Given the description of an element on the screen output the (x, y) to click on. 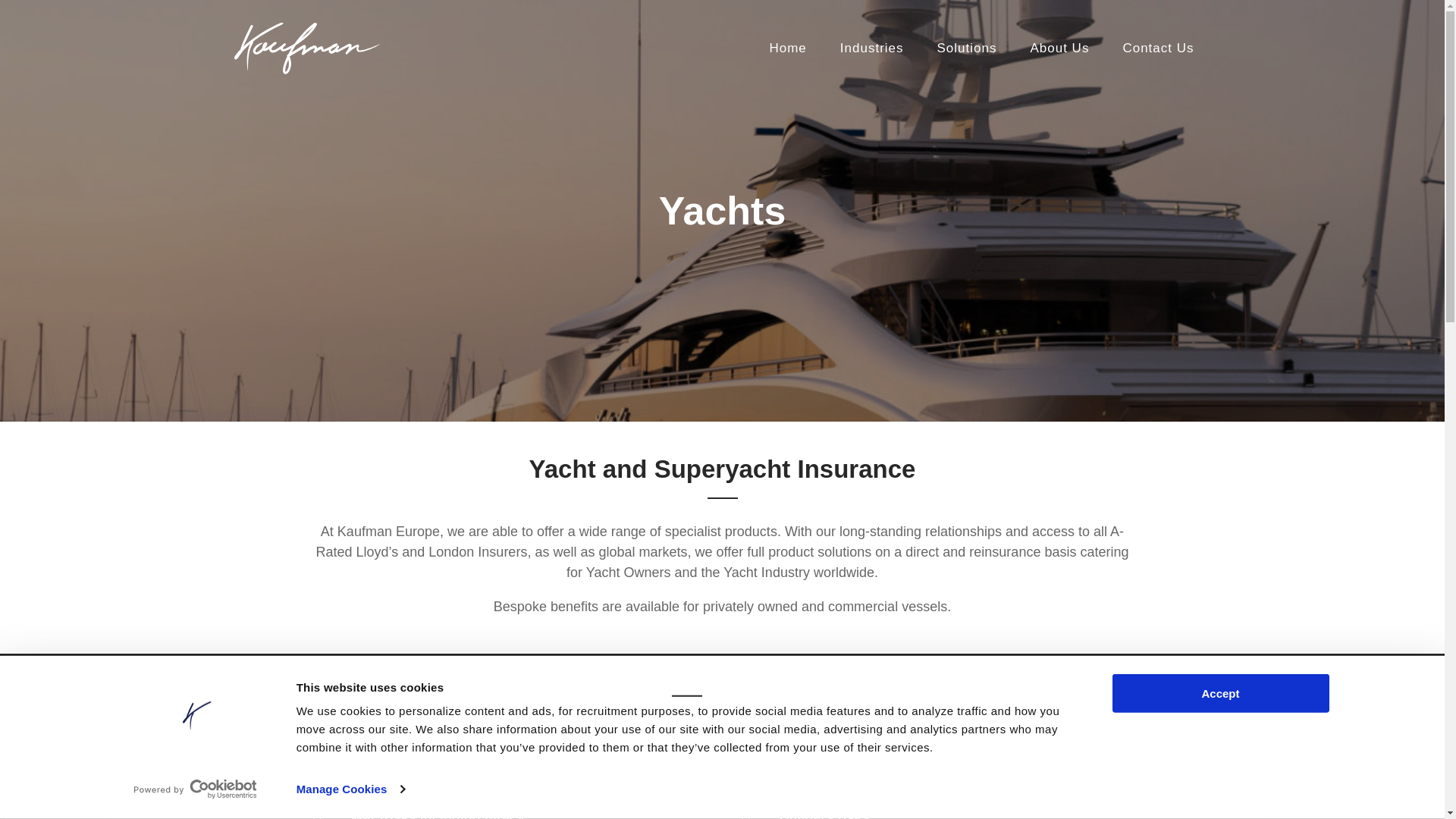
Accept (1219, 693)
Manage Cookies (350, 789)
Industries (872, 48)
